Given the description of an element on the screen output the (x, y) to click on. 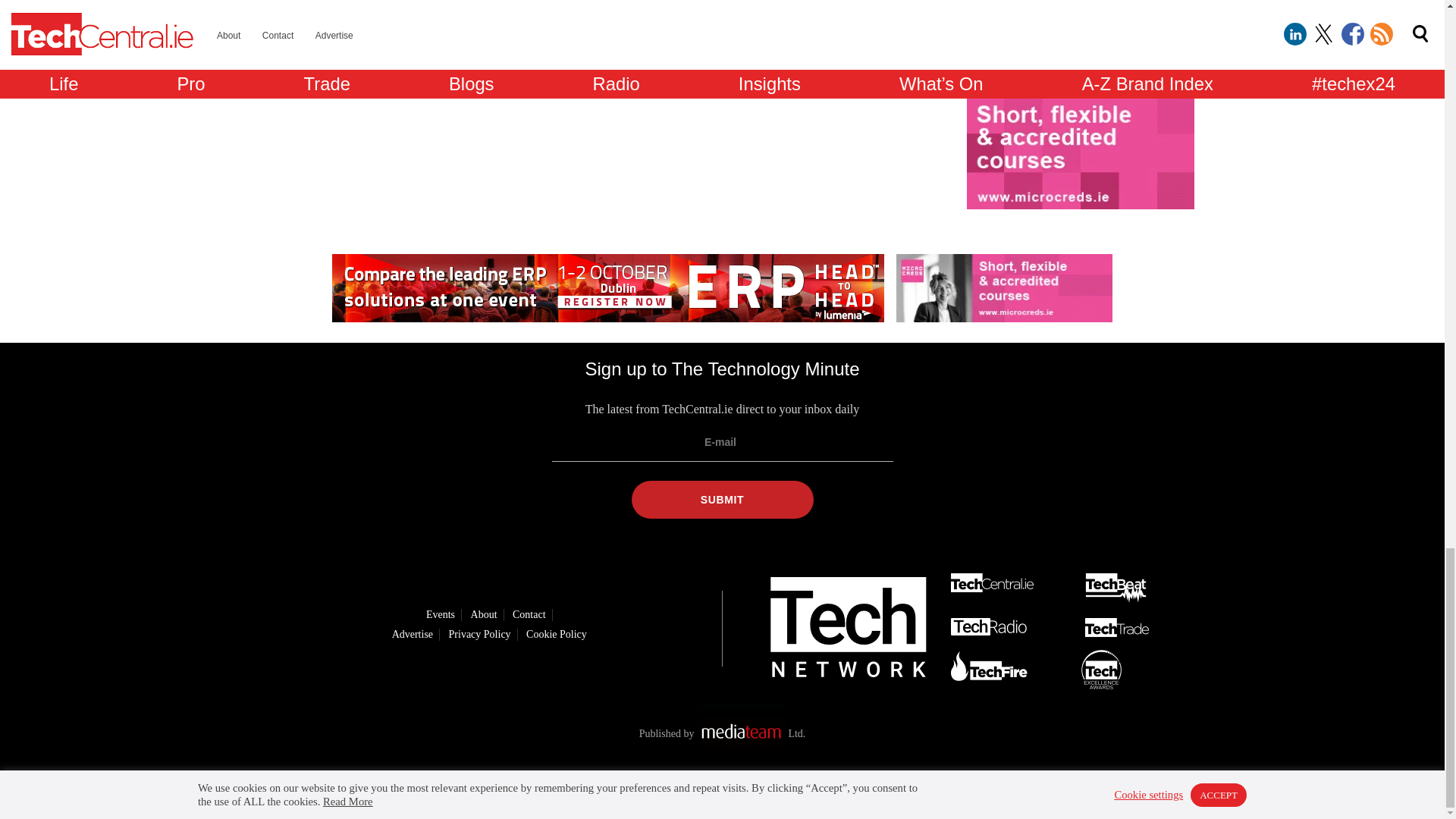
Submit (721, 499)
Follow on Twitter (698, 790)
Follow on LinkedIn (654, 790)
